Given the description of an element on the screen output the (x, y) to click on. 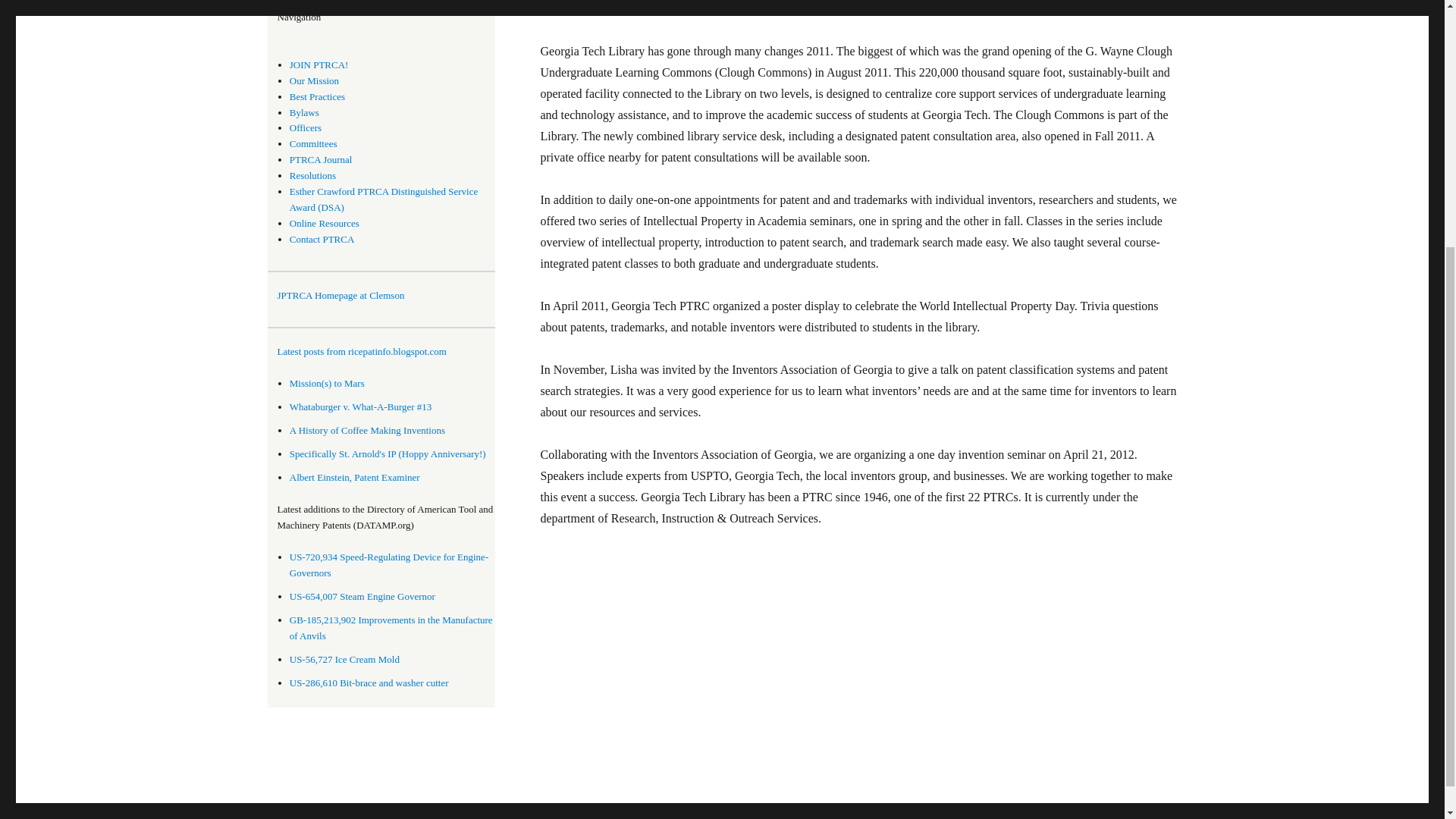
Resolutions (312, 174)
Latest posts from ricepatinfo.blogspot.com (386, 351)
Best Practices (317, 96)
PTRCA Journal (320, 159)
Officers (305, 127)
Bylaws (303, 112)
Our Mission (314, 80)
JPTRCA Homepage at Clemson (341, 295)
JOIN PTRCA! (319, 64)
Online Resources (324, 223)
A History of Coffee Making Inventions (367, 430)
Contact PTRCA (322, 238)
Committees (313, 143)
